Given the description of an element on the screen output the (x, y) to click on. 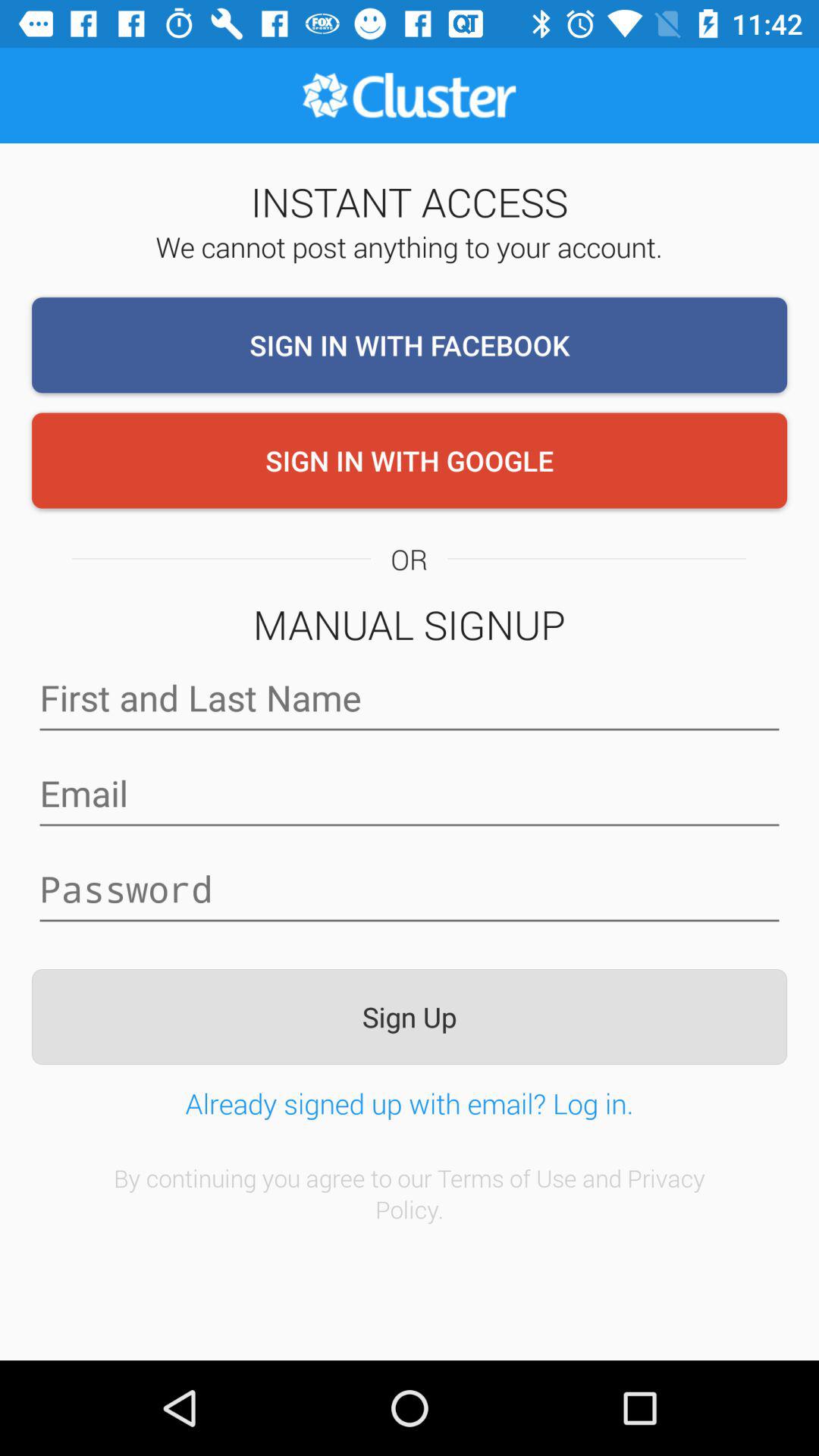
enter name (409, 698)
